Given the description of an element on the screen output the (x, y) to click on. 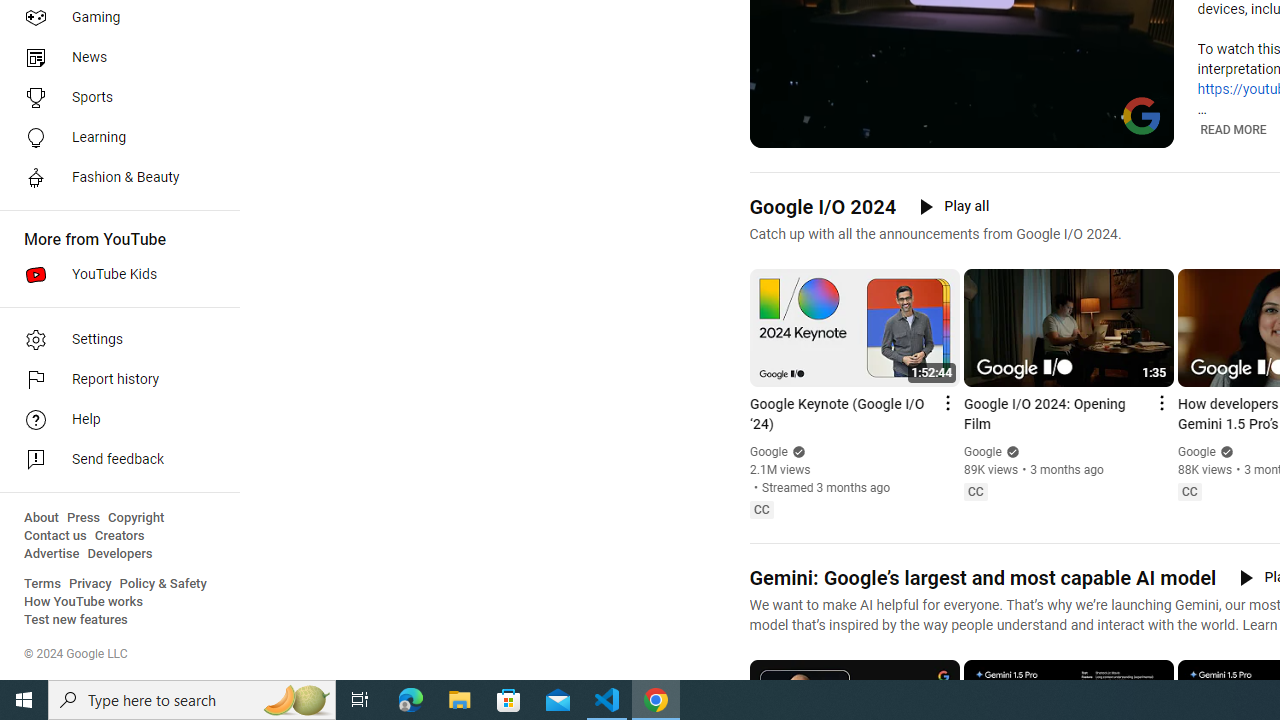
READ MORE (1233, 129)
Mute (m) (815, 130)
Fashion & Beauty (113, 177)
Seek slider (961, 109)
Channel watermark (1141, 115)
YouTube Kids (113, 274)
Sports (113, 97)
Copyright (136, 518)
Verified (1223, 451)
About (41, 518)
Creators (118, 536)
Channel watermark (1141, 115)
